Given the description of an element on the screen output the (x, y) to click on. 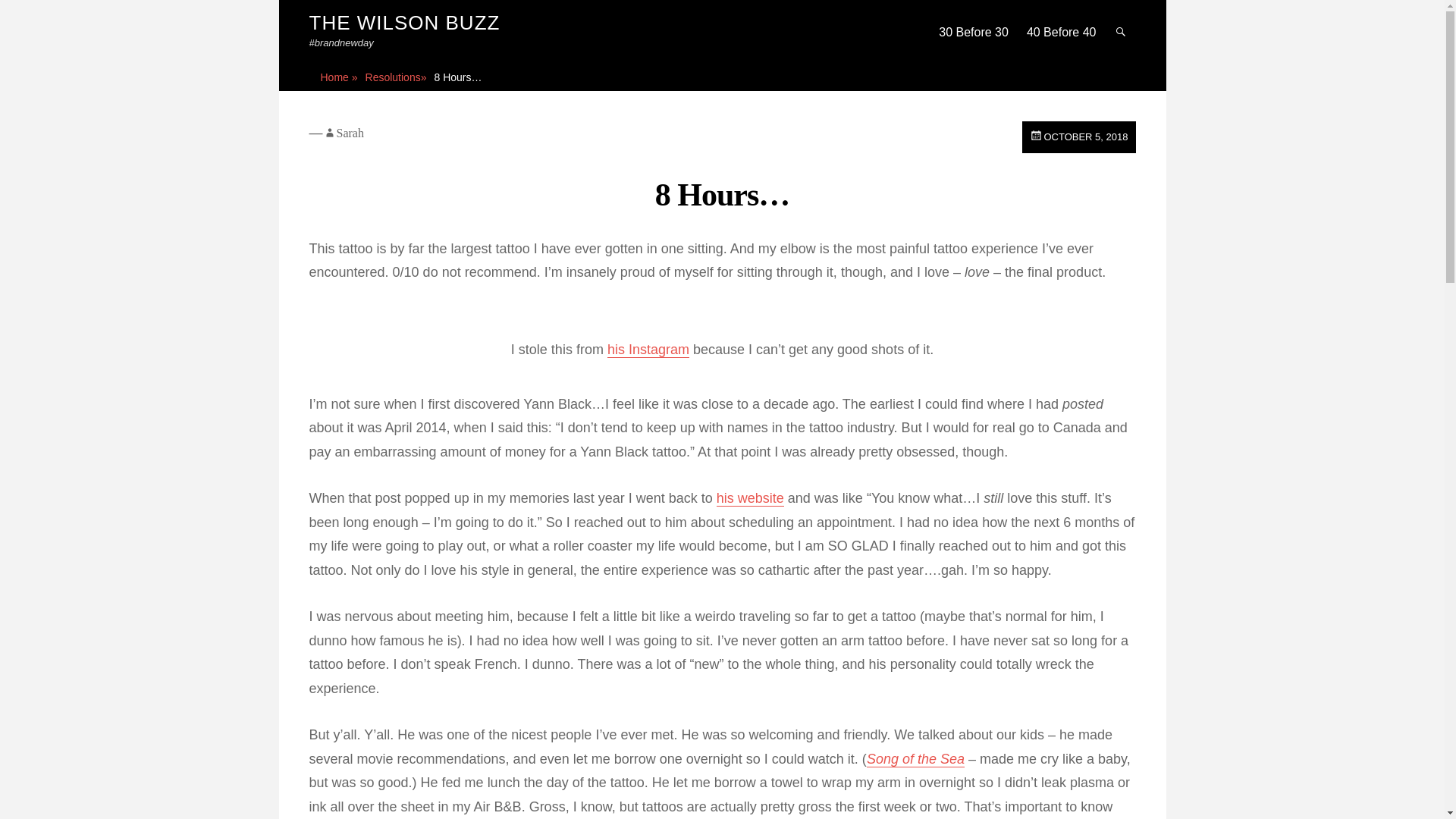
his website (750, 498)
40 Before 40 (1061, 32)
his Instagram (647, 349)
THE WILSON BUZZ (404, 22)
Song of the Sea (914, 758)
30 Before 30 (973, 32)
Sarah (343, 132)
OCTOBER 5, 2018 (1077, 135)
